Given the description of an element on the screen output the (x, y) to click on. 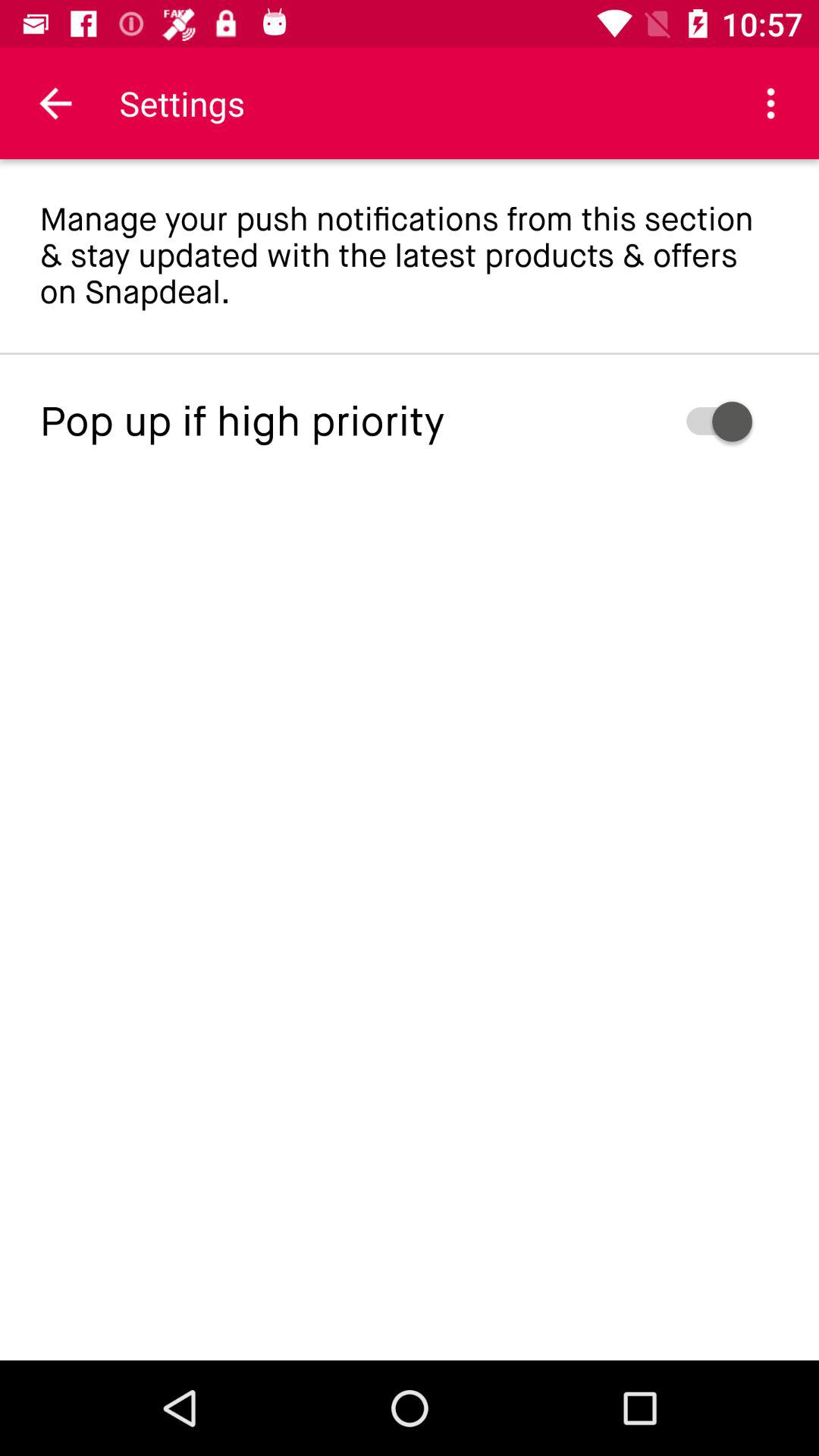
launch the item next to settings icon (55, 103)
